Given the description of an element on the screen output the (x, y) to click on. 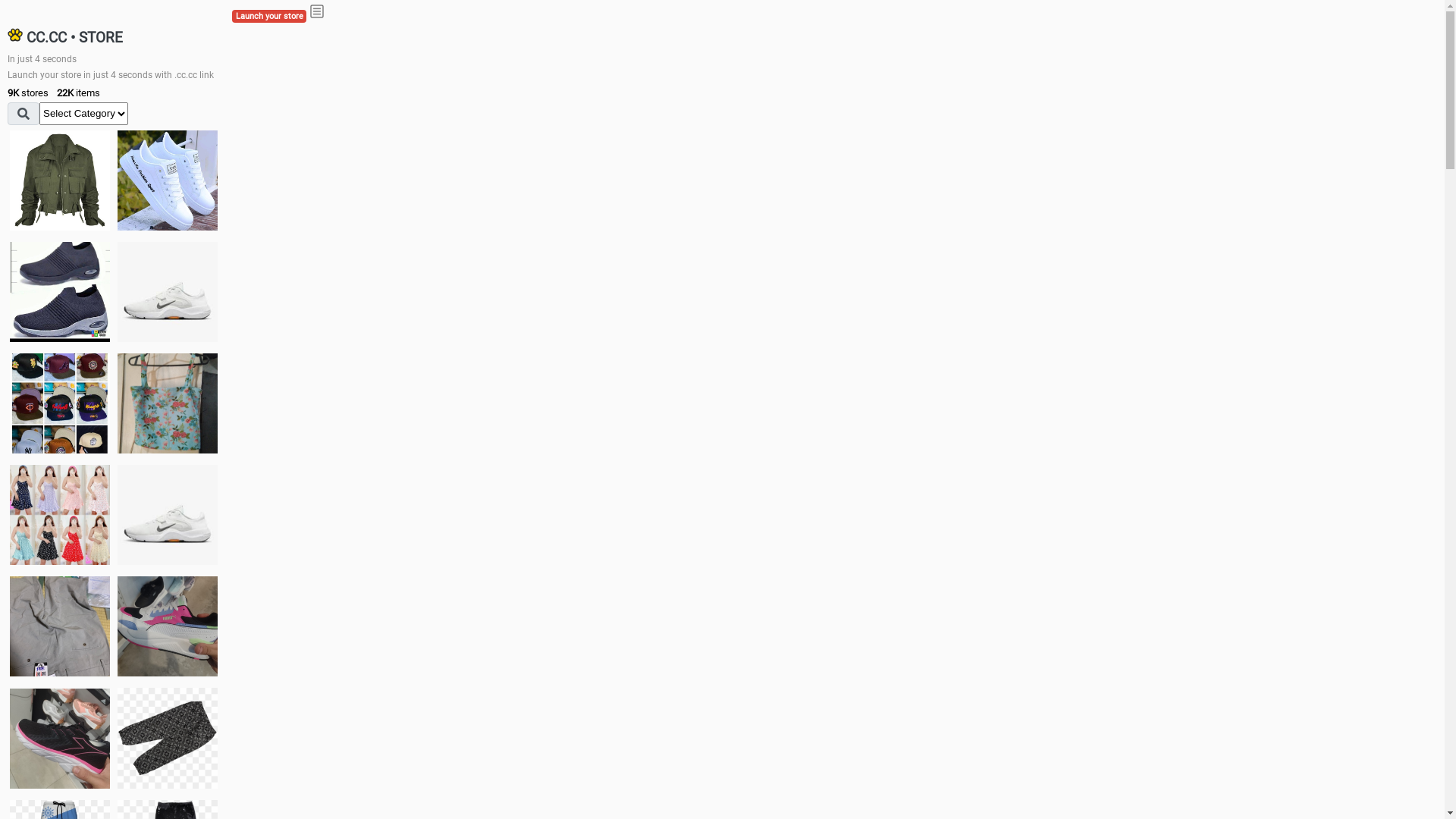
Short pant Element type: hover (167, 737)
Ukay cloth Element type: hover (167, 403)
Zapatillas pumas Element type: hover (167, 626)
Shoes for boys Element type: hover (167, 291)
white shoes Element type: hover (167, 180)
jacket Element type: hover (59, 180)
Shoes Element type: hover (167, 514)
shoes for boys Element type: hover (59, 291)
Things we need Element type: hover (59, 403)
Zapatillas Element type: hover (59, 738)
Dress/square nect top Element type: hover (59, 514)
Launch your store Element type: text (269, 15)
